Given the description of an element on the screen output the (x, y) to click on. 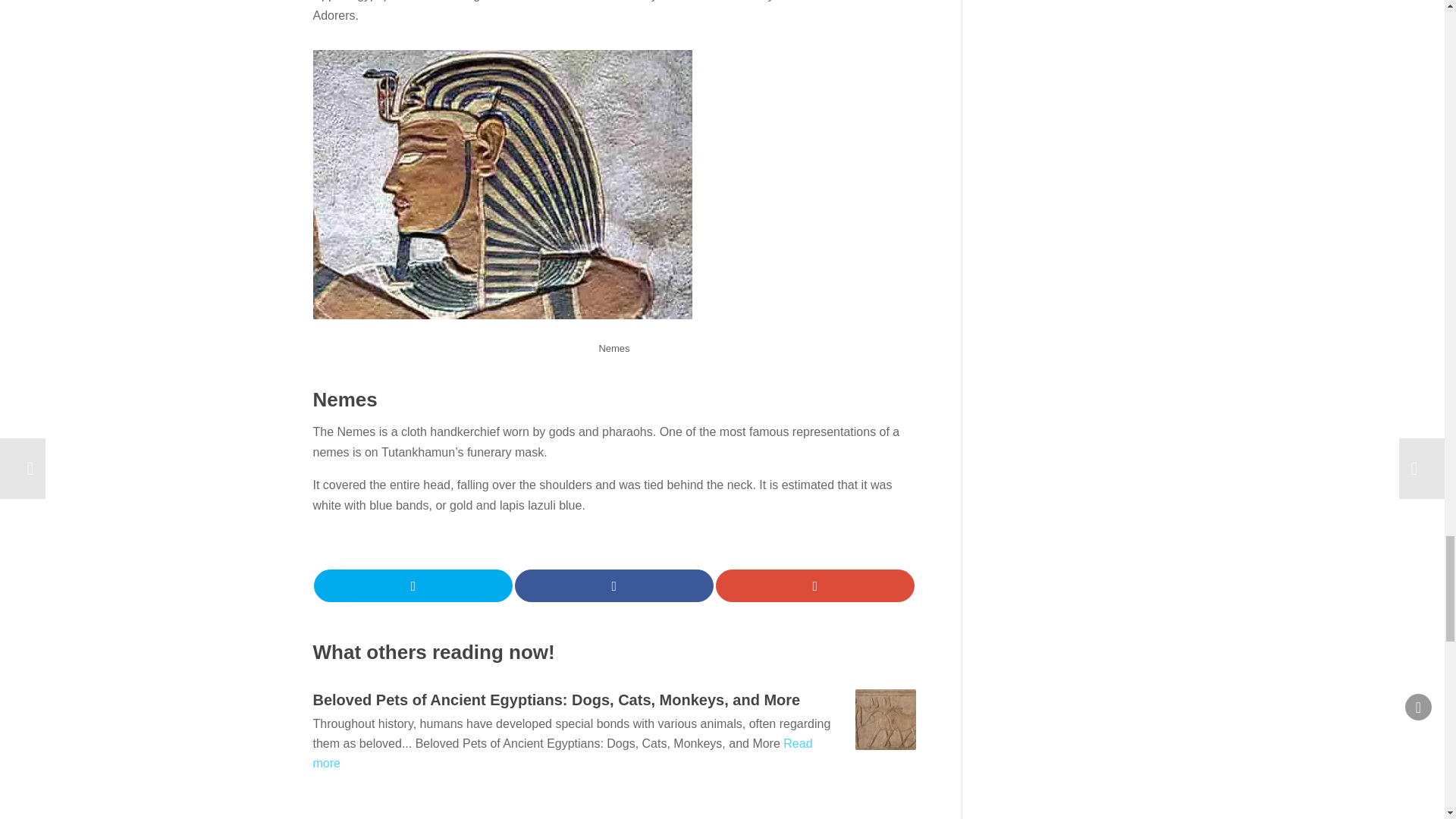
Read more (562, 753)
